Given the description of an element on the screen output the (x, y) to click on. 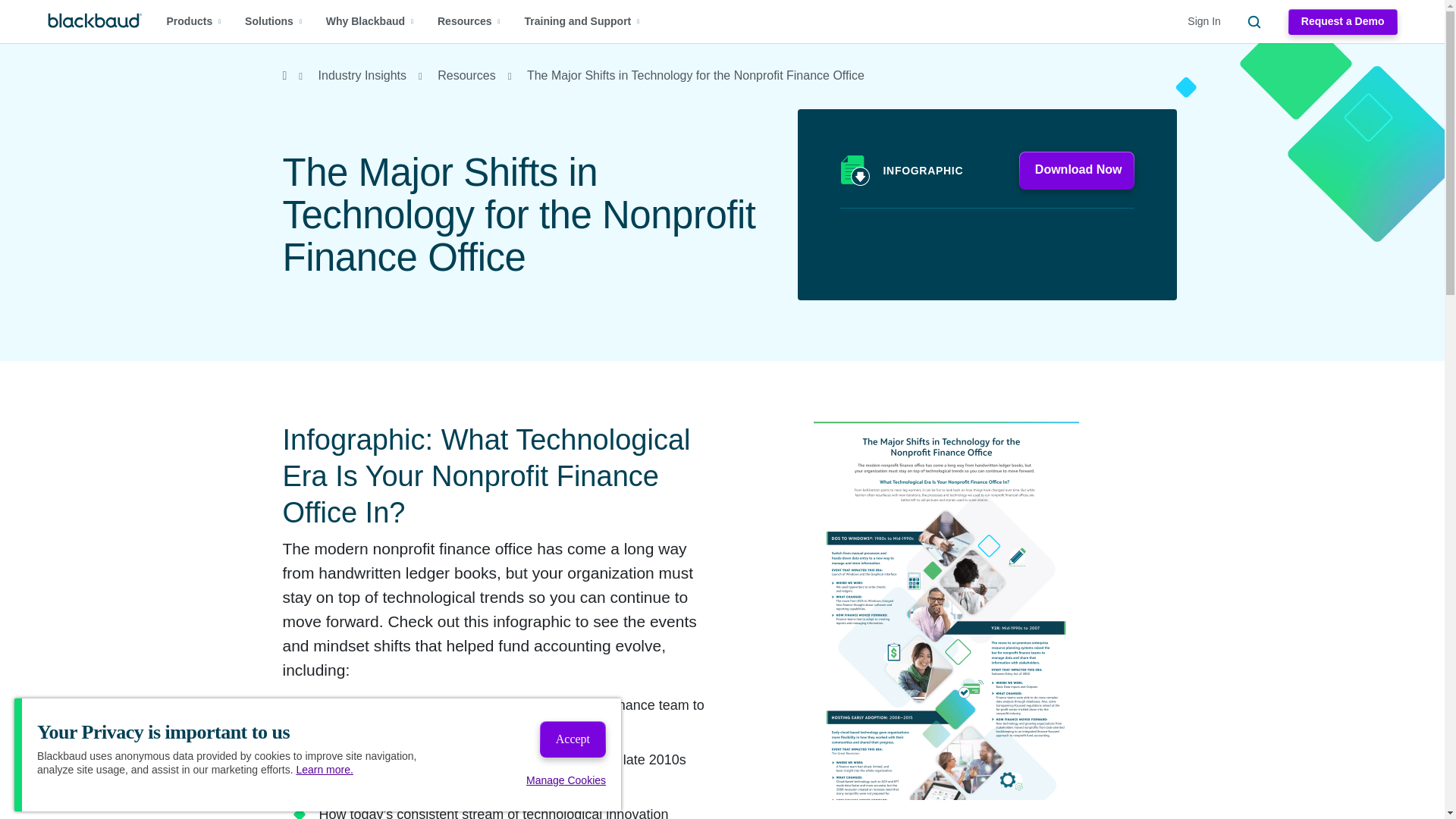
Solutions (272, 21)
Products (194, 21)
Why Blackbaud (369, 21)
